Given the description of an element on the screen output the (x, y) to click on. 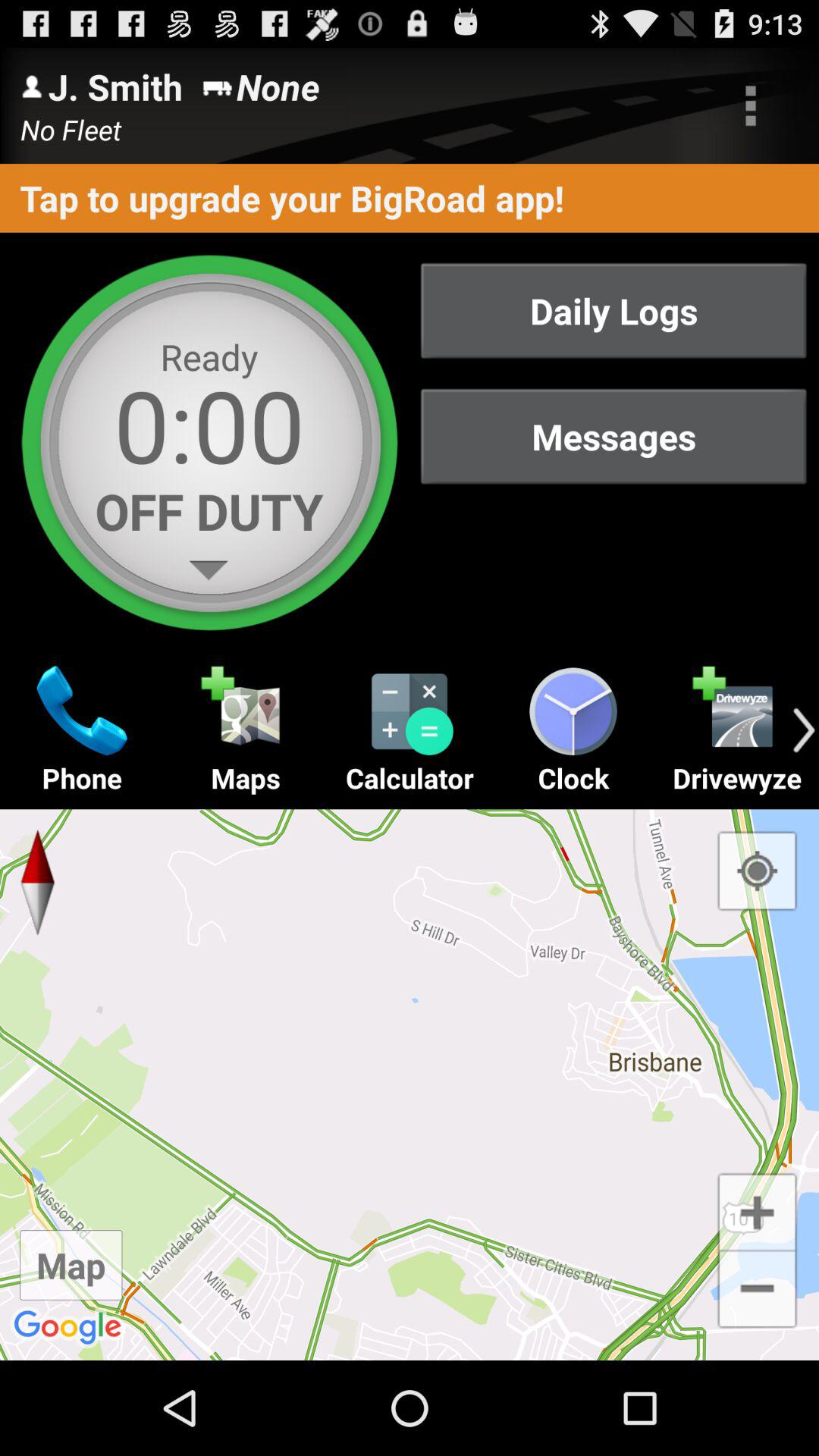
click the tap to upgrade item (409, 197)
